Given the description of an element on the screen output the (x, y) to click on. 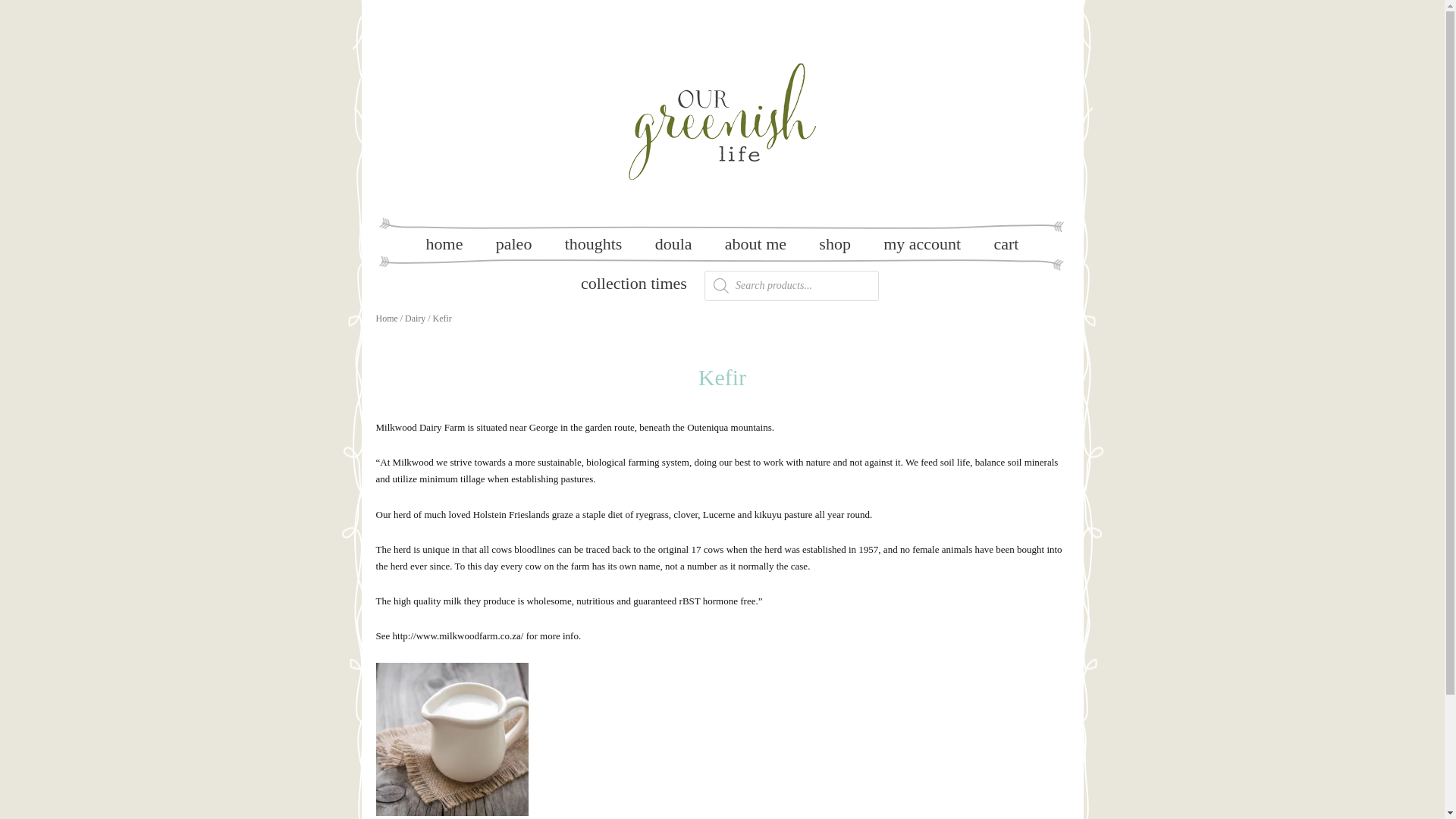
cart (1005, 243)
thoughts (593, 243)
my account (921, 243)
home (444, 243)
shop (834, 243)
doula (673, 243)
Dairy (414, 317)
about me (756, 243)
paleo (513, 243)
